Given the description of an element on the screen output the (x, y) to click on. 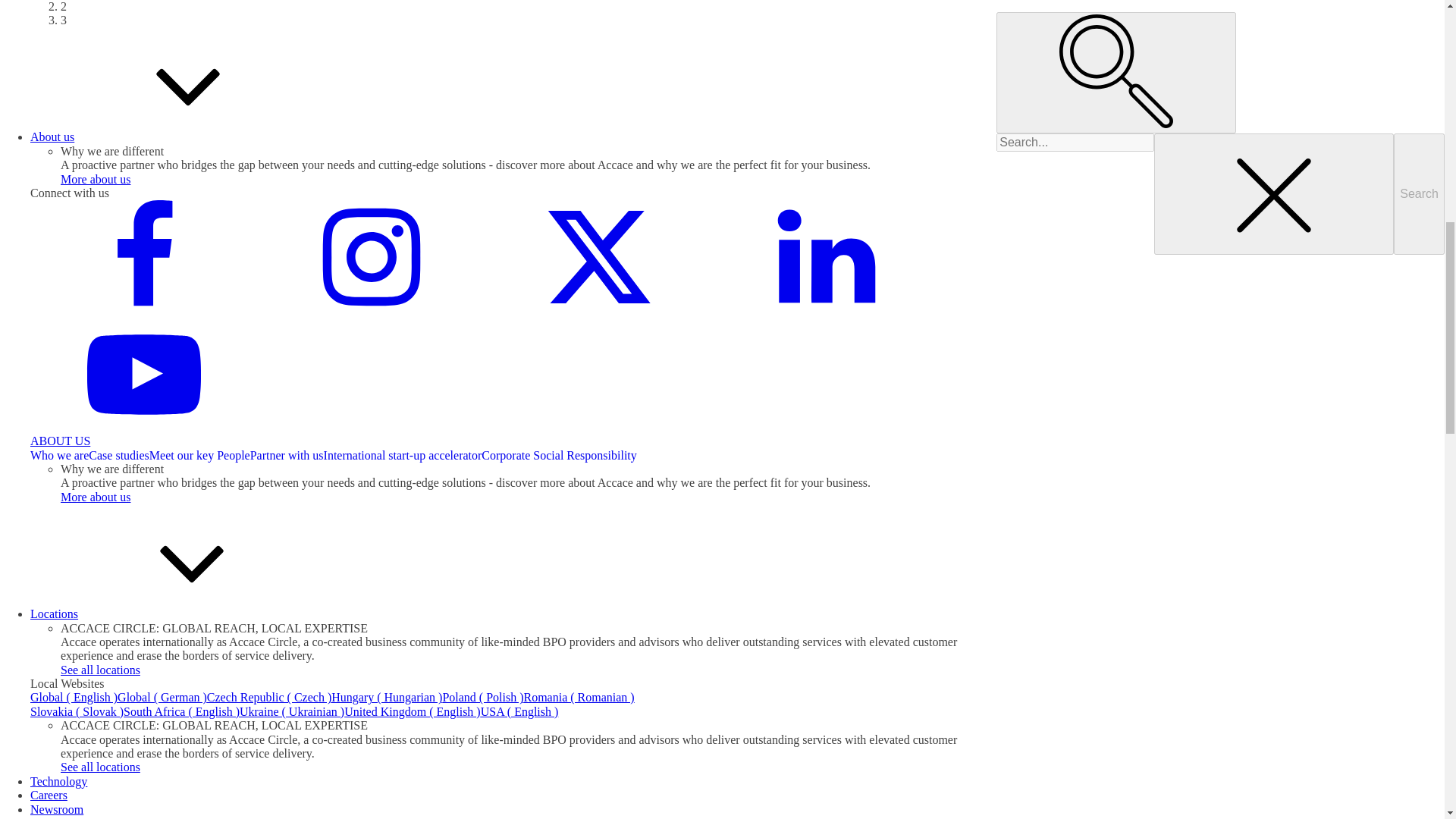
Search for: (1074, 142)
About us (165, 136)
More about us (96, 178)
